Given the description of an element on the screen output the (x, y) to click on. 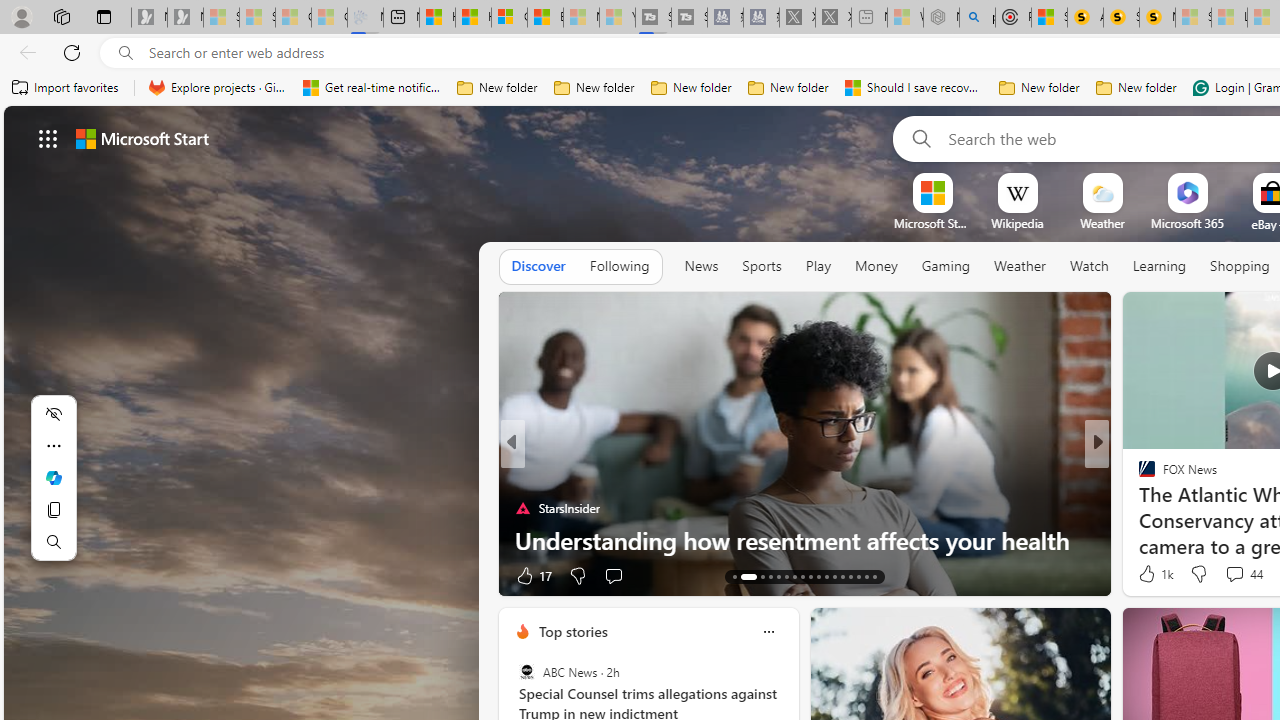
View comments 5 Comment (1229, 575)
Learning (1159, 267)
App launcher (47, 138)
AutomationID: tab-29 (874, 576)
View comments 44 Comment (1243, 574)
Copy (53, 509)
View comments 191 Comment (11, 575)
634 Like (1151, 574)
Money (876, 267)
92 Like (1149, 574)
AutomationID: tab-20 (801, 576)
Microsoft 365 (1186, 223)
